Given the description of an element on the screen output the (x, y) to click on. 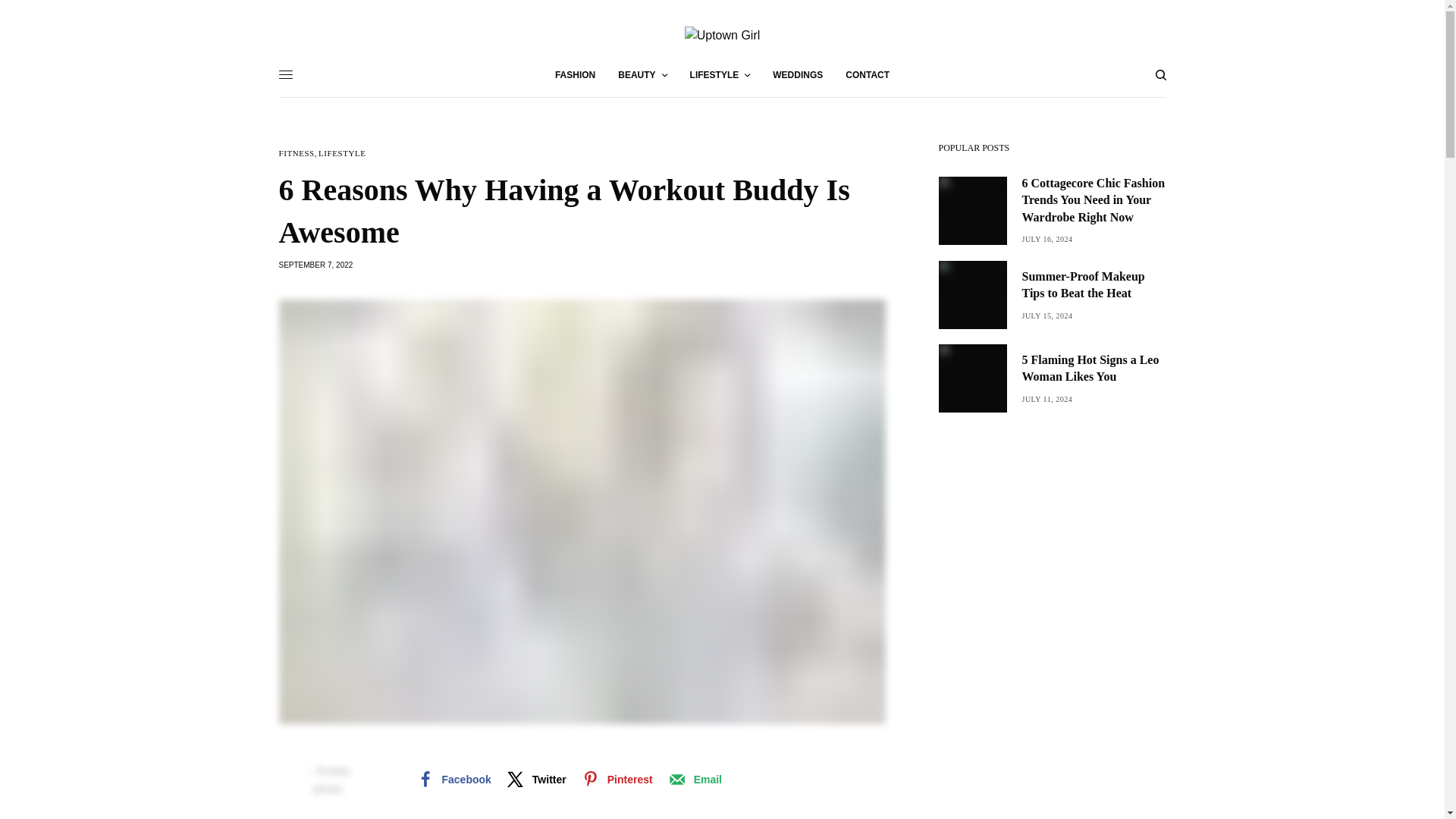
Uptown Girl (722, 35)
BEAUTY (641, 74)
